Given the description of an element on the screen output the (x, y) to click on. 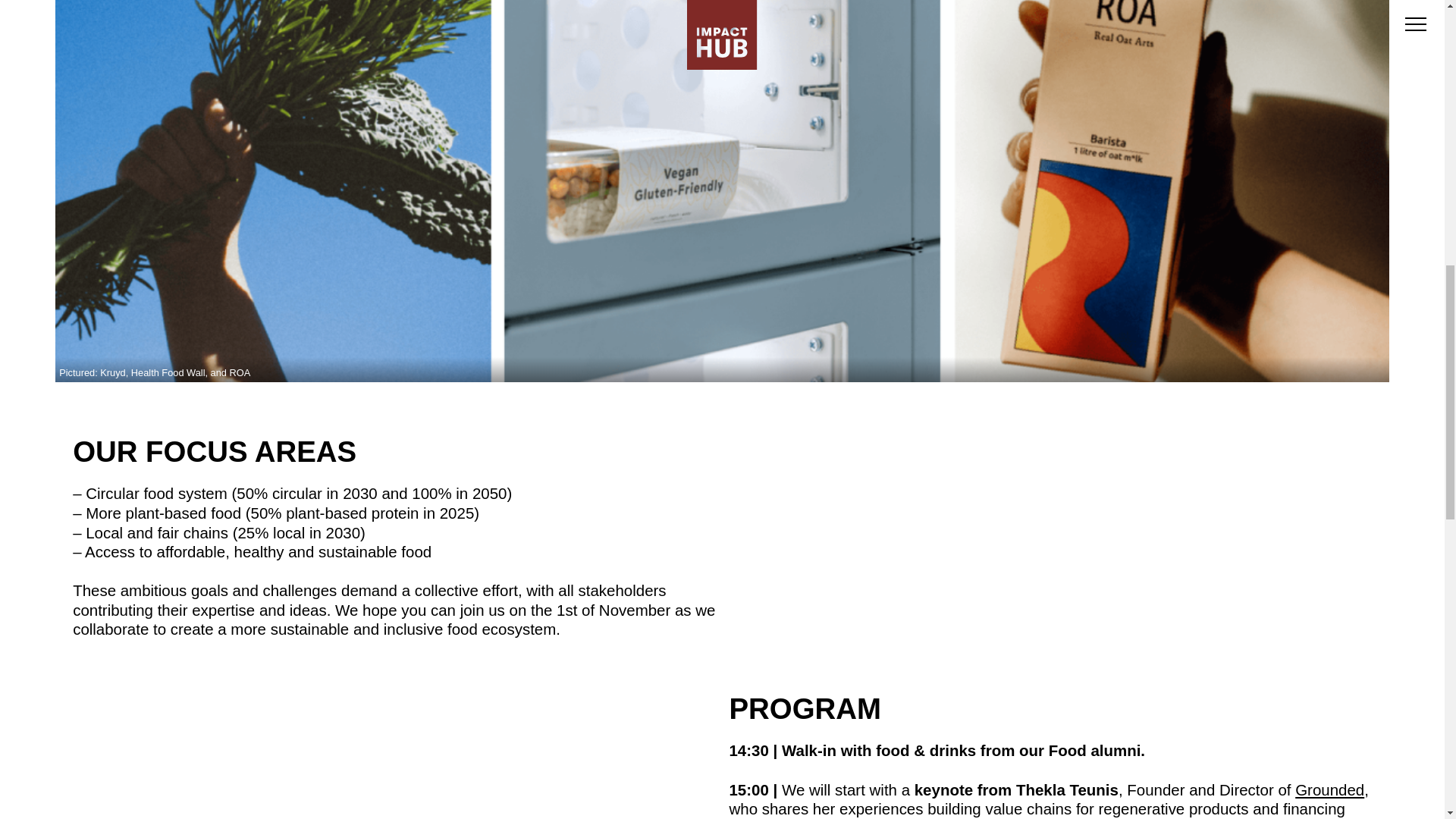
Grounded (1329, 789)
